Given the description of an element on the screen output the (x, y) to click on. 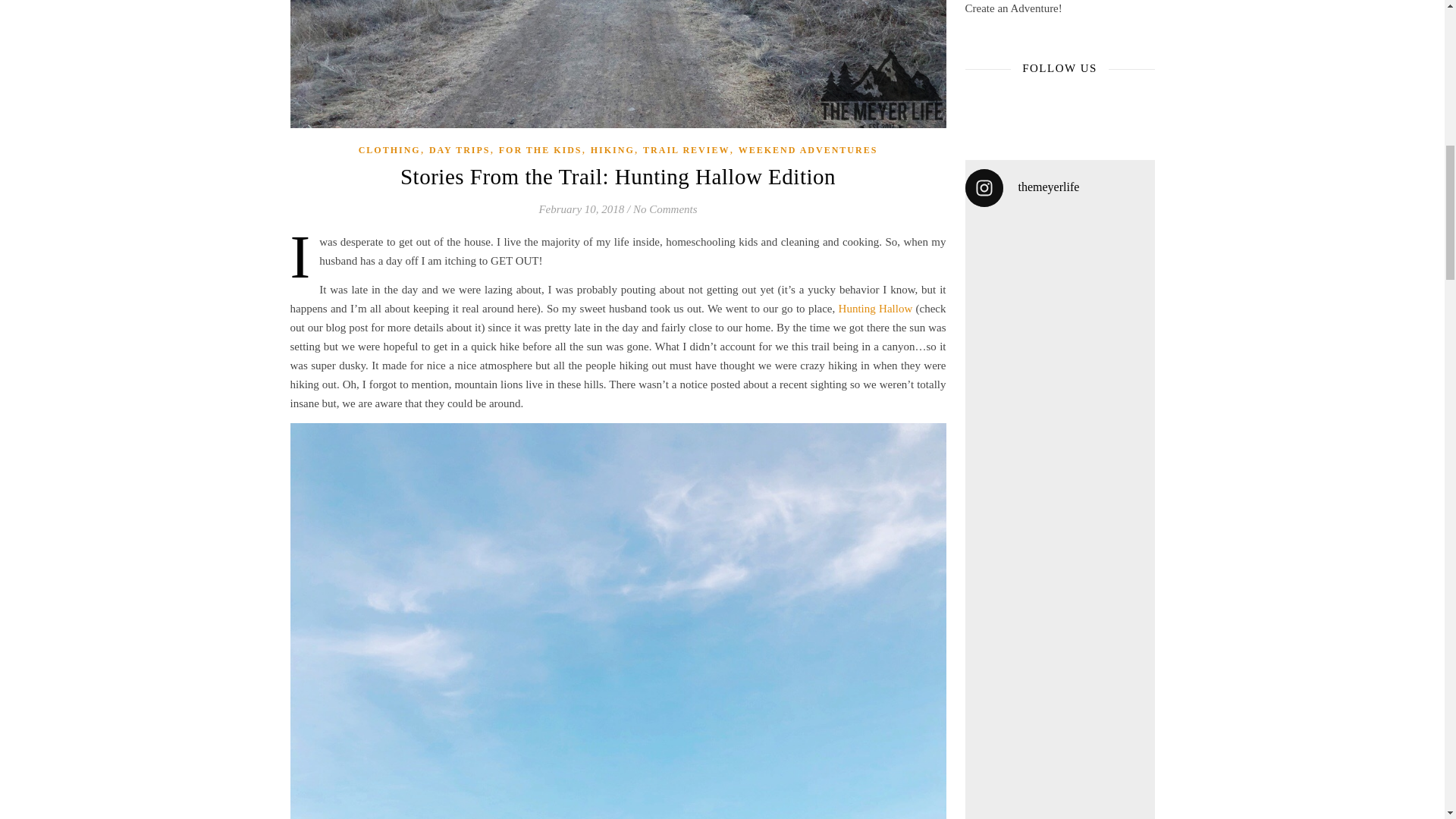
HIKING (612, 149)
WEEKEND ADVENTURES (807, 149)
DAY TRIPS (459, 149)
No Comments (665, 209)
FOR THE KIDS (540, 149)
Hunting Hallow (875, 308)
CLOTHING (389, 149)
TRAIL REVIEW (686, 149)
